Given the description of an element on the screen output the (x, y) to click on. 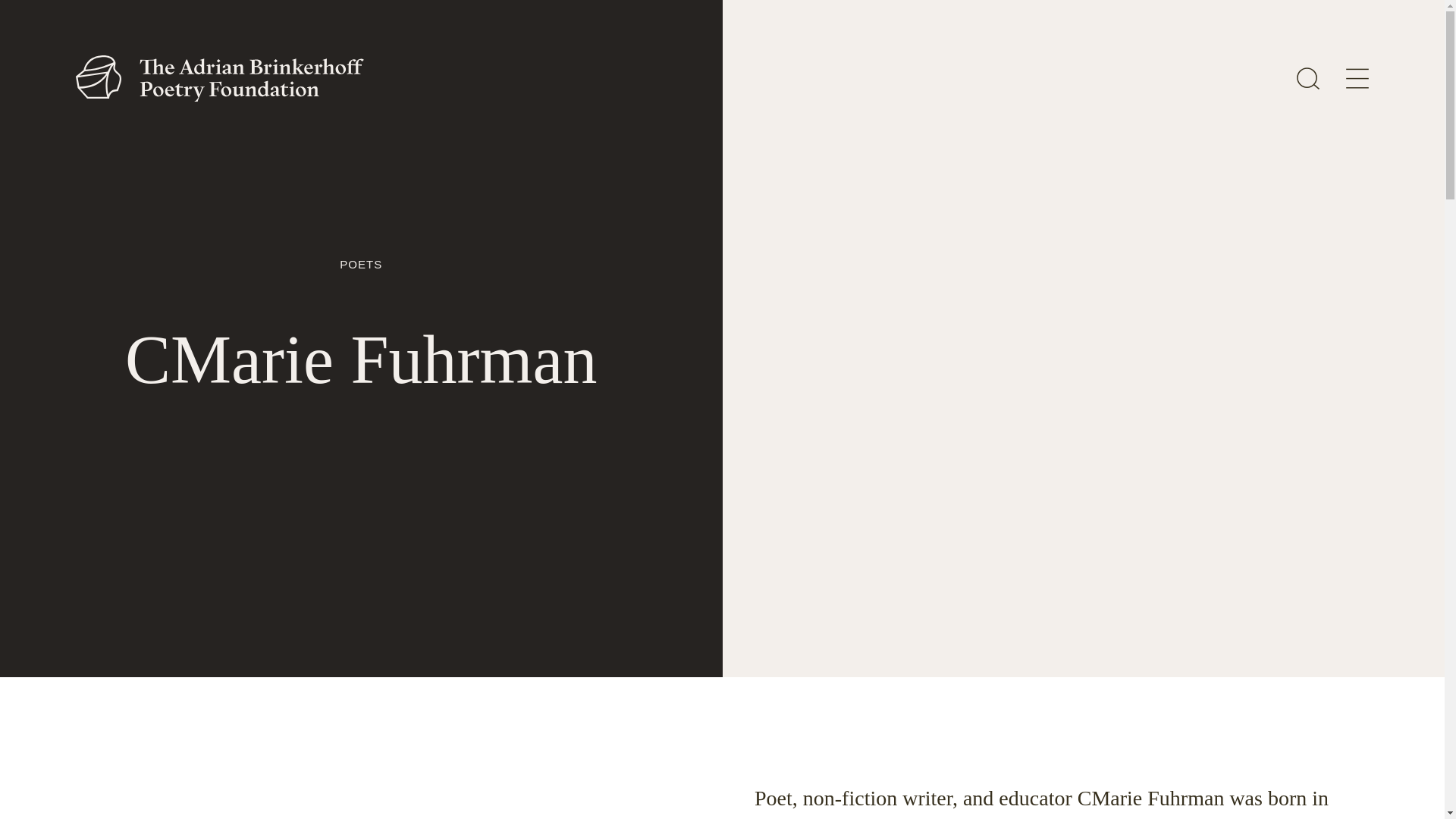
POETS (361, 263)
